Given the description of an element on the screen output the (x, y) to click on. 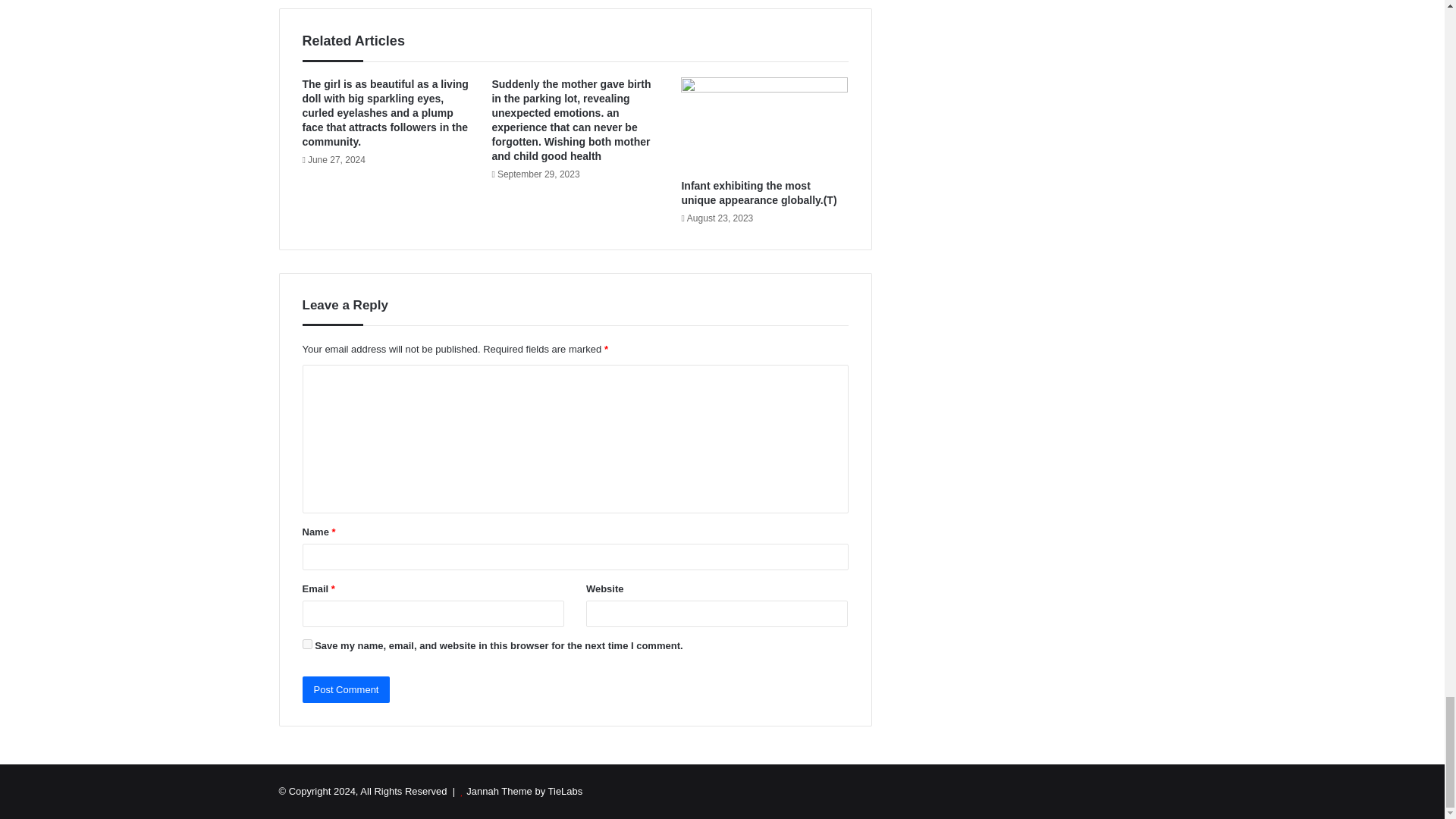
Post Comment (345, 689)
yes (306, 644)
